Given the description of an element on the screen output the (x, y) to click on. 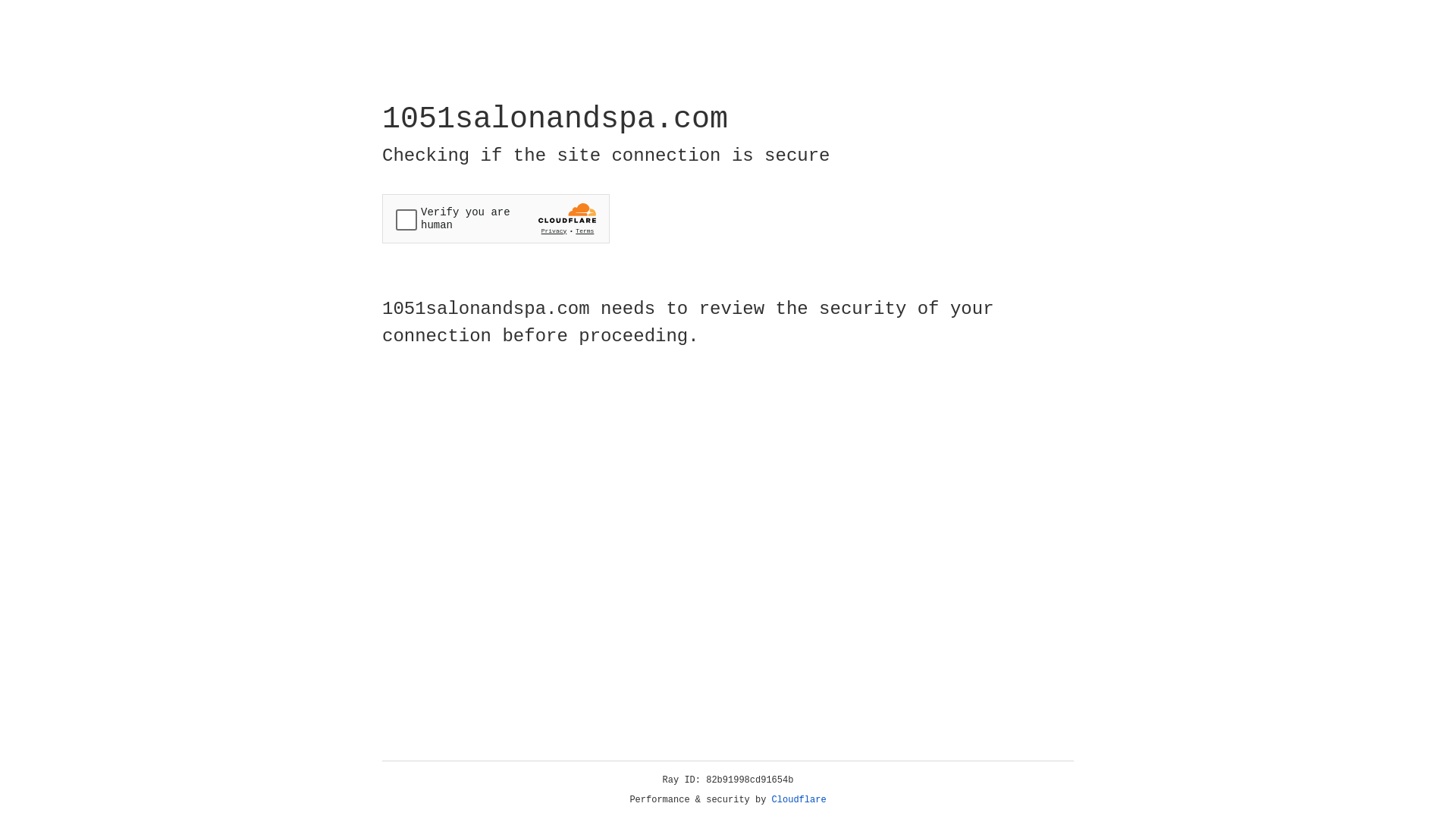
Cloudflare Element type: text (798, 799)
Widget containing a Cloudflare security challenge Element type: hover (495, 218)
